Given the description of an element on the screen output the (x, y) to click on. 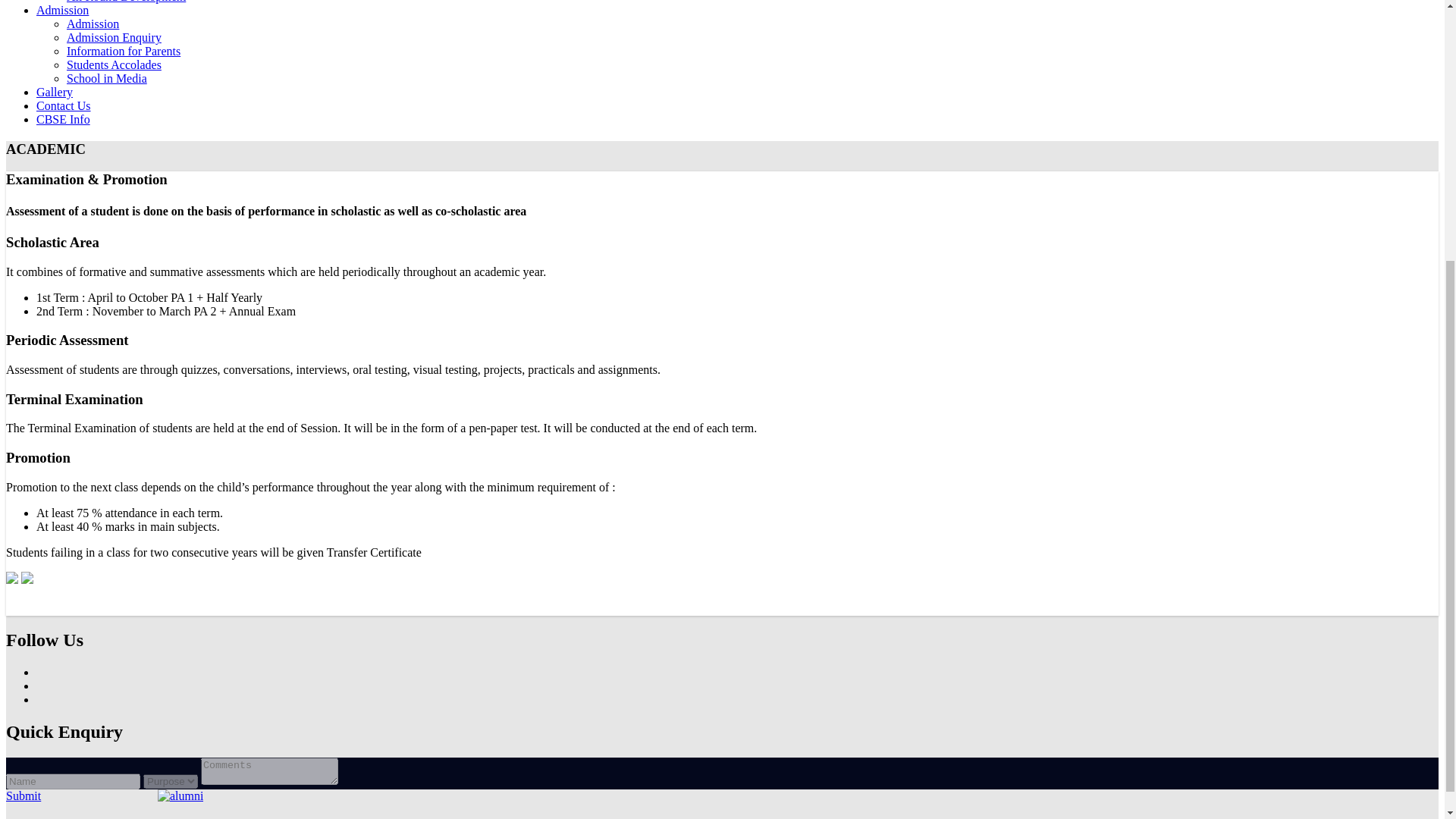
CBSE Info (63, 119)
Information for Parents (123, 51)
School in Media (106, 78)
Students Accolades (113, 64)
Admission (92, 23)
Gallery (54, 91)
Admission (62, 10)
Contact Us (63, 105)
Submit (22, 796)
Admission Enquiry (113, 37)
All Round Development (126, 1)
